Given the description of an element on the screen output the (x, y) to click on. 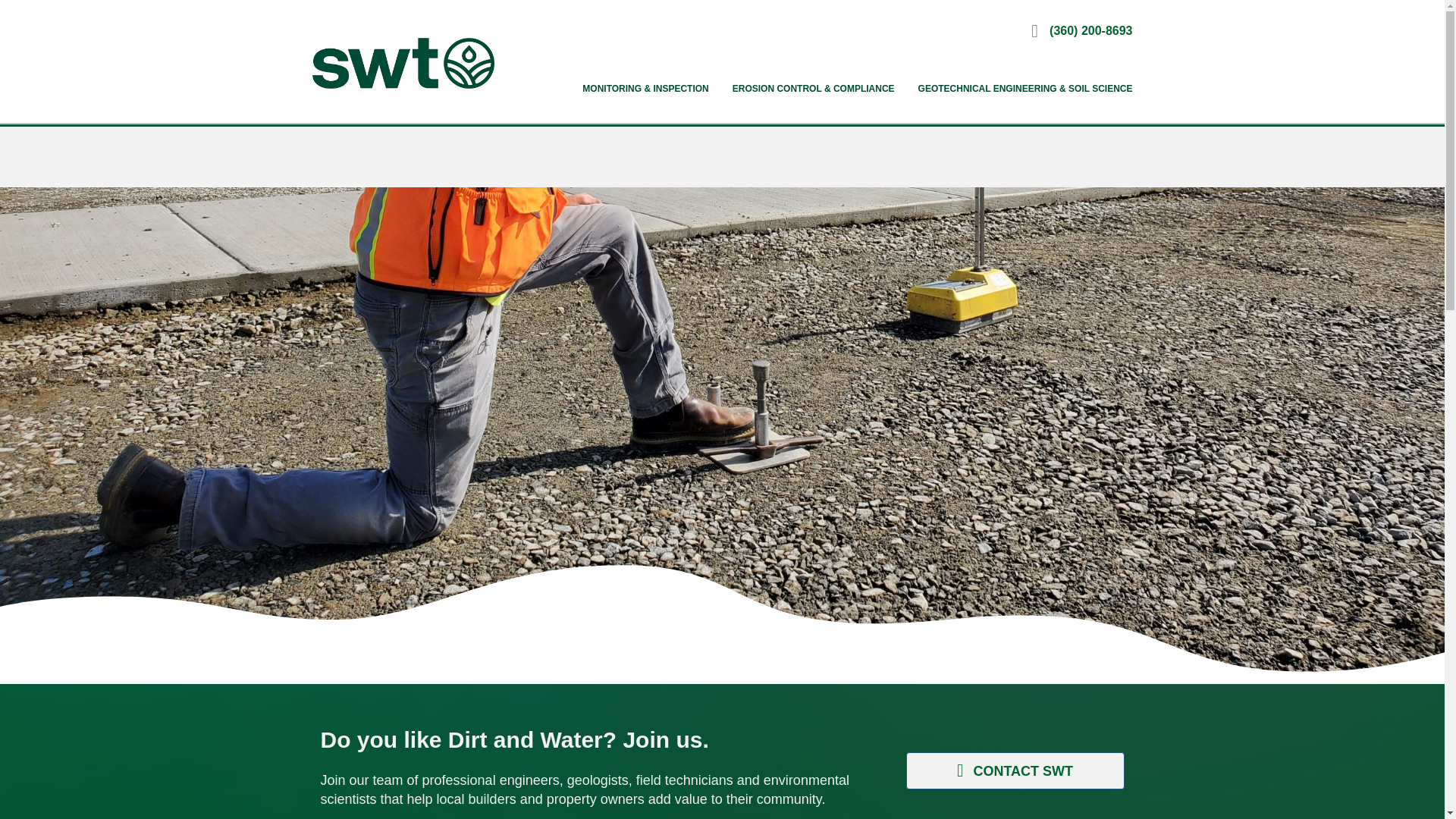
CONTACT SWT (1014, 770)
SWT Logo (404, 62)
